Given the description of an element on the screen output the (x, y) to click on. 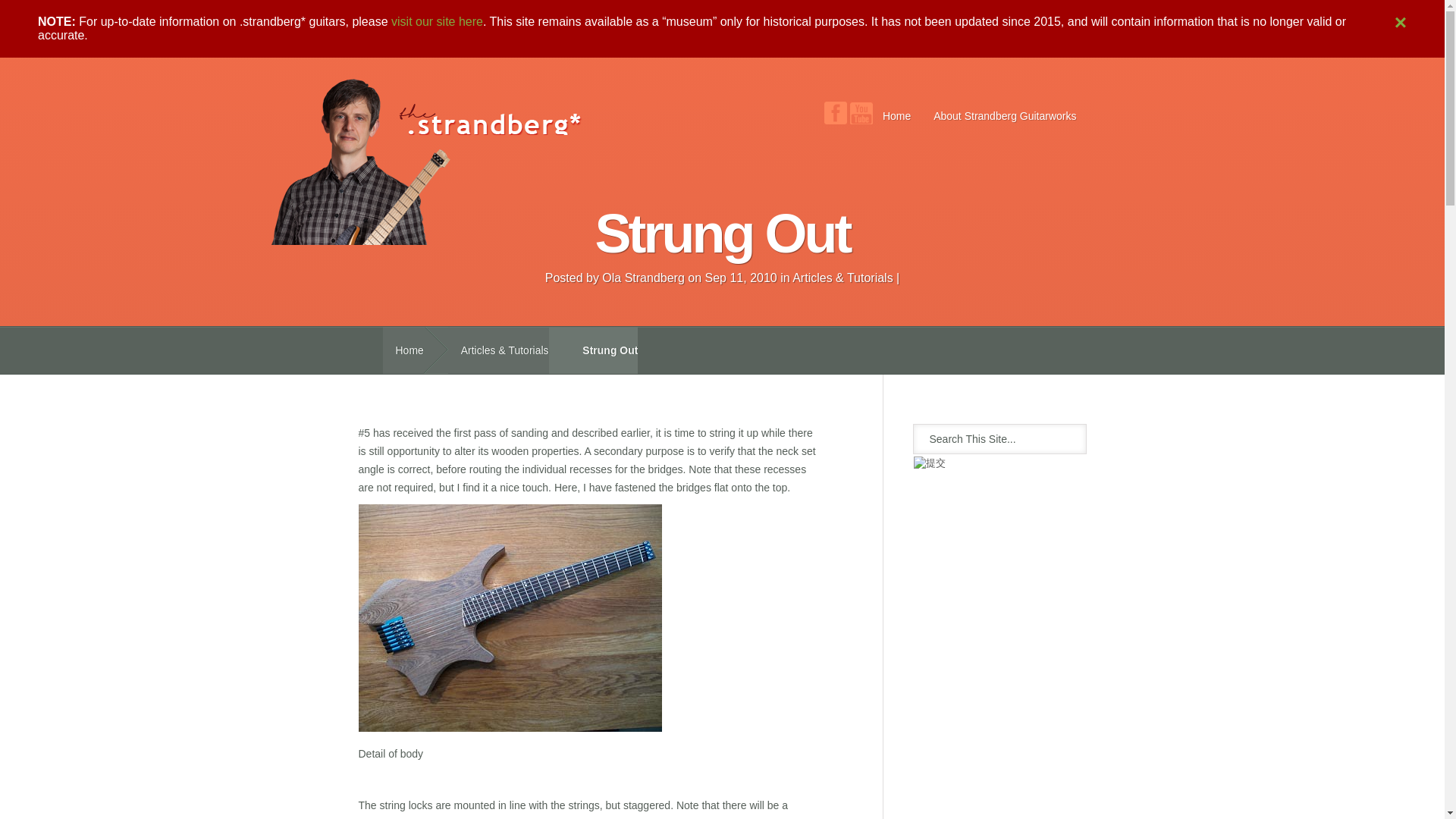
Search This Site... (983, 438)
About Strandberg Guitarworks (1004, 115)
Posts by Ola Strandberg (643, 277)
Ola Strandberg (643, 277)
visit our site here (437, 21)
Home (896, 115)
